Given the description of an element on the screen output the (x, y) to click on. 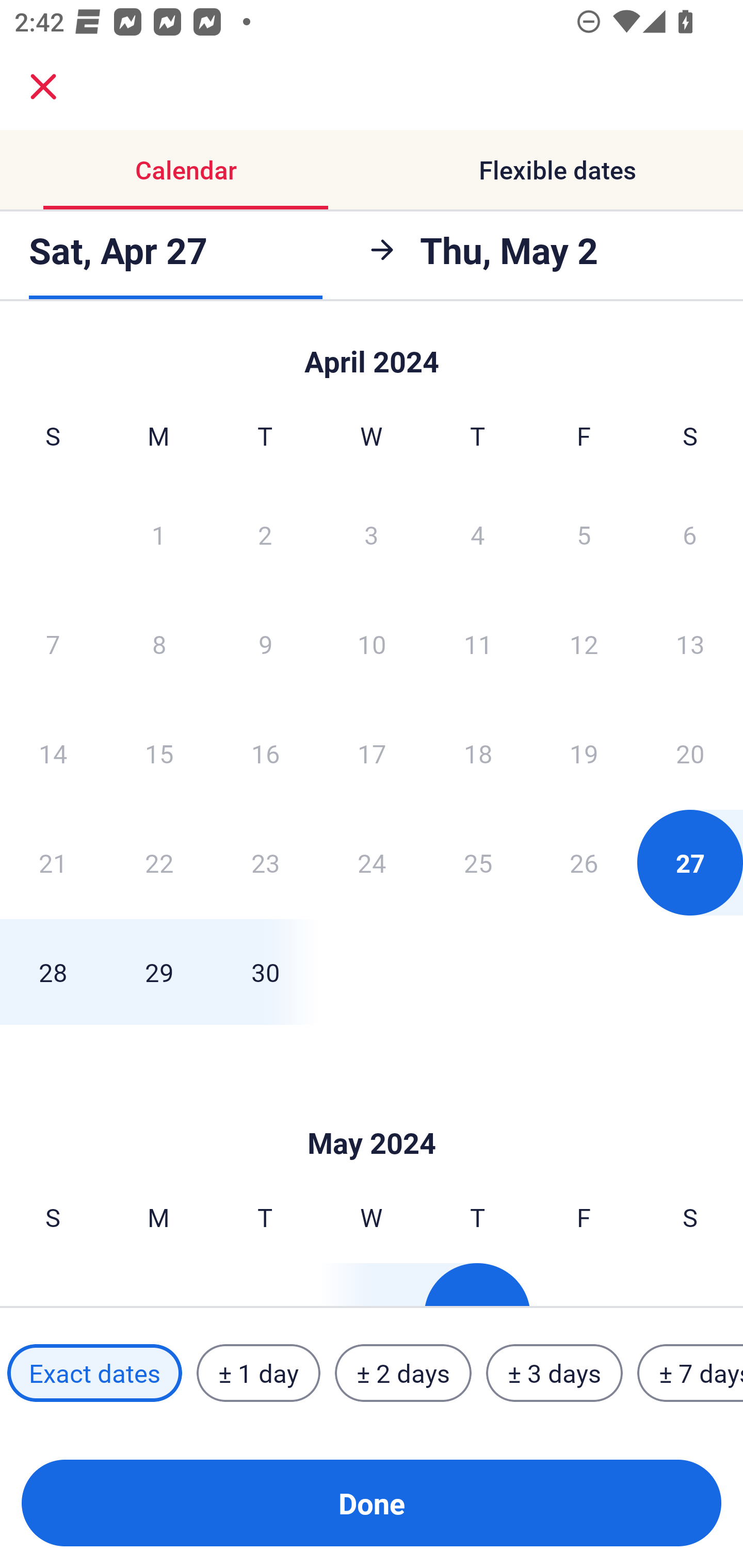
close. (43, 86)
Flexible dates (557, 170)
Skip to Done (371, 352)
1 Monday, April 1, 2024 (158, 534)
2 Tuesday, April 2, 2024 (264, 534)
3 Wednesday, April 3, 2024 (371, 534)
4 Thursday, April 4, 2024 (477, 534)
5 Friday, April 5, 2024 (583, 534)
6 Saturday, April 6, 2024 (689, 534)
7 Sunday, April 7, 2024 (53, 643)
8 Monday, April 8, 2024 (159, 643)
9 Tuesday, April 9, 2024 (265, 643)
10 Wednesday, April 10, 2024 (371, 643)
11 Thursday, April 11, 2024 (477, 643)
12 Friday, April 12, 2024 (584, 643)
13 Saturday, April 13, 2024 (690, 643)
14 Sunday, April 14, 2024 (53, 752)
15 Monday, April 15, 2024 (159, 752)
16 Tuesday, April 16, 2024 (265, 752)
17 Wednesday, April 17, 2024 (371, 752)
18 Thursday, April 18, 2024 (477, 752)
19 Friday, April 19, 2024 (584, 752)
20 Saturday, April 20, 2024 (690, 752)
21 Sunday, April 21, 2024 (53, 862)
22 Monday, April 22, 2024 (159, 862)
23 Tuesday, April 23, 2024 (265, 862)
24 Wednesday, April 24, 2024 (371, 862)
25 Thursday, April 25, 2024 (477, 862)
26 Friday, April 26, 2024 (584, 862)
Skip to Done (371, 1112)
Exact dates (94, 1372)
± 1 day (258, 1372)
± 2 days (403, 1372)
± 3 days (553, 1372)
± 7 days (690, 1372)
Done (371, 1502)
